Given the description of an element on the screen output the (x, y) to click on. 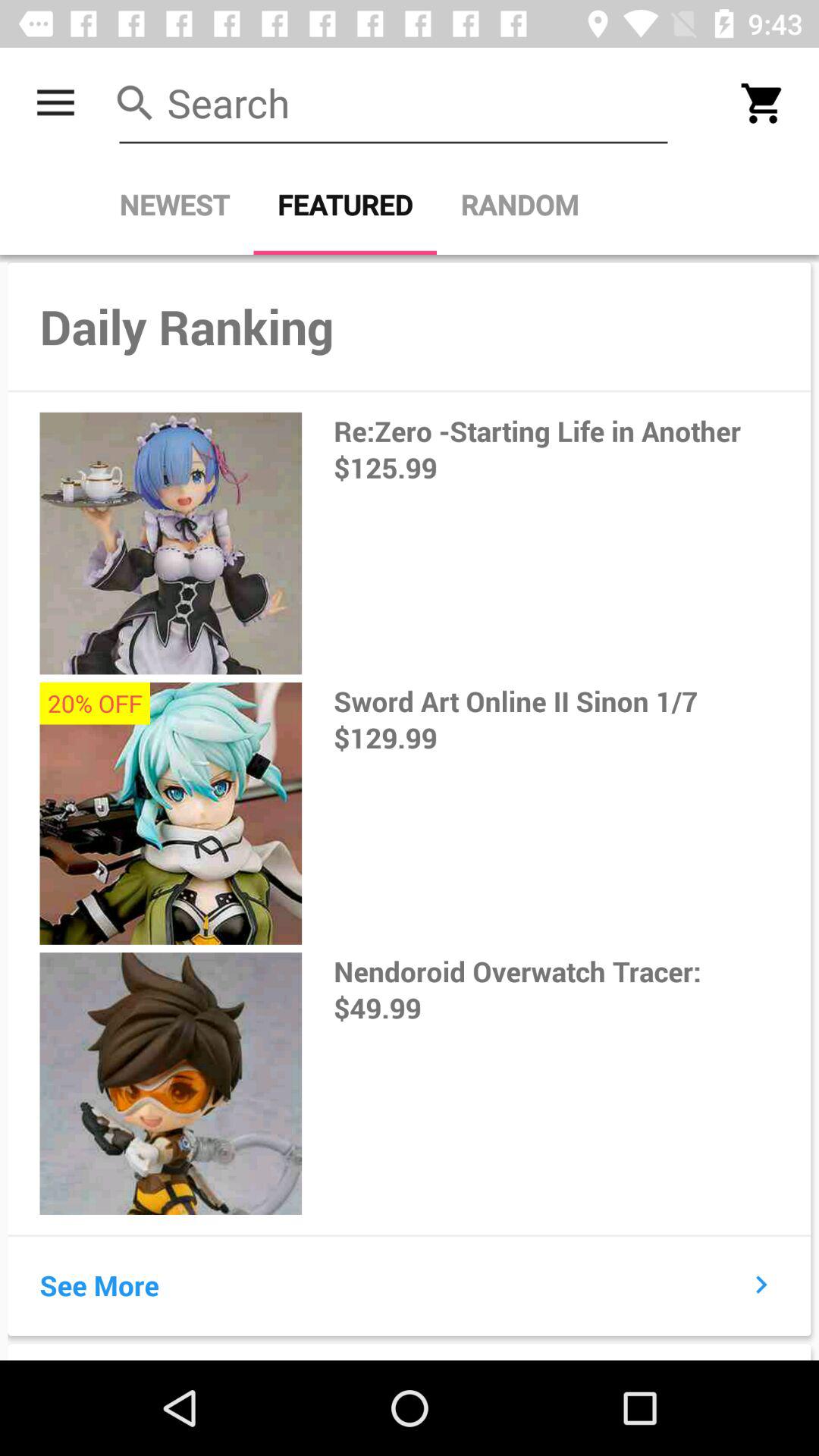
click random icon (519, 204)
